Given the description of an element on the screen output the (x, y) to click on. 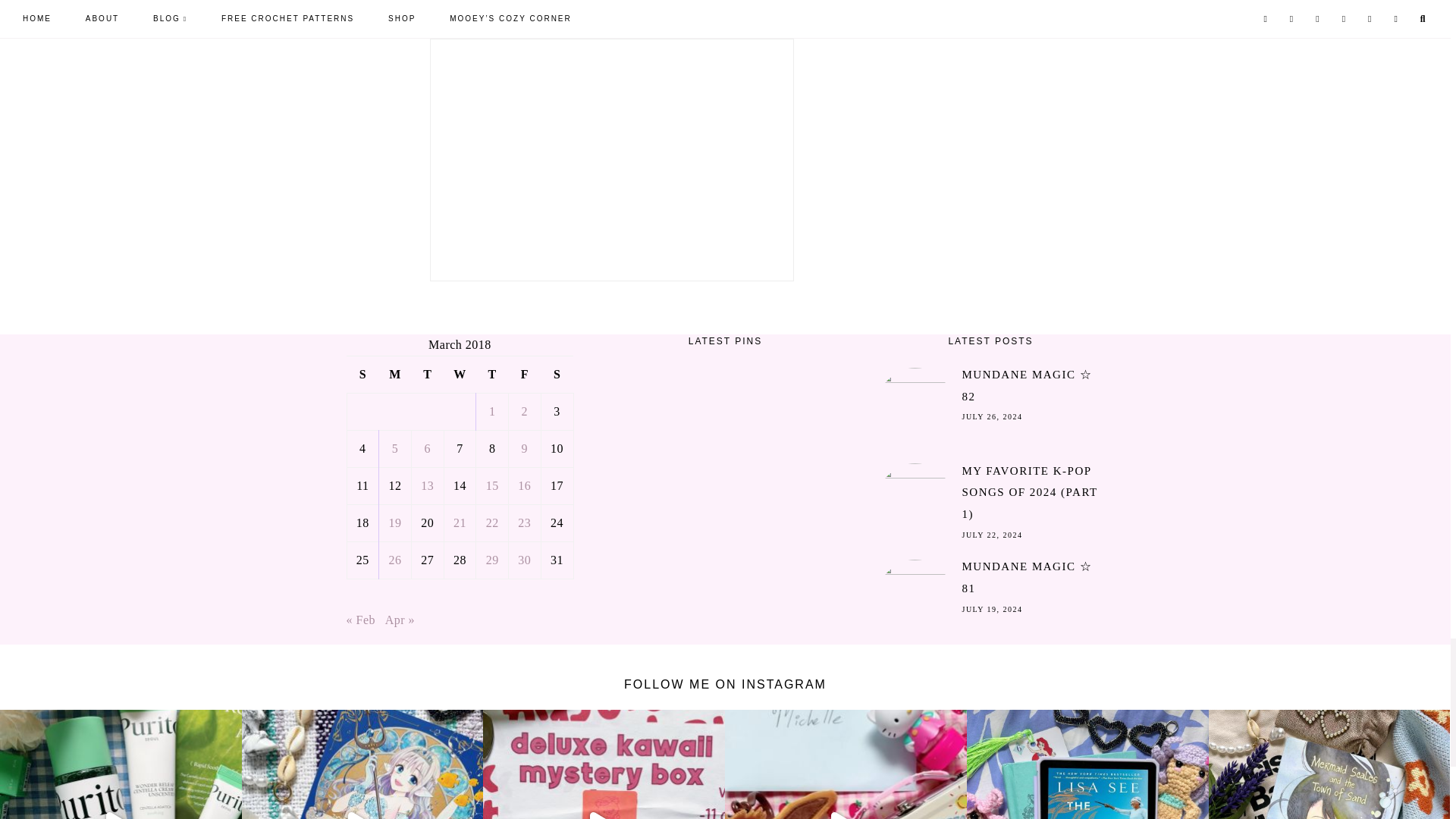
Post Comment (404, 4)
